Given the description of an element on the screen output the (x, y) to click on. 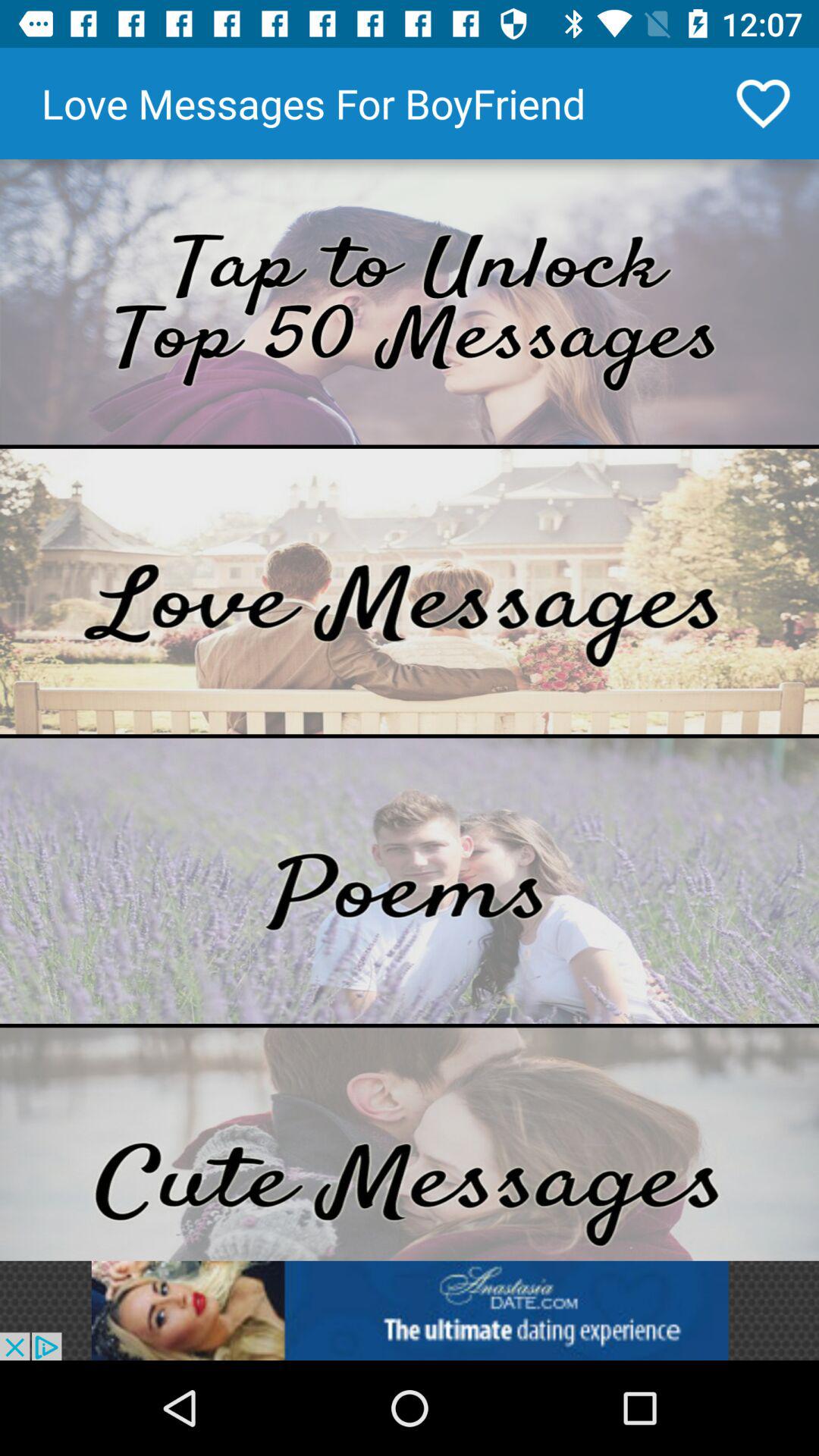
display cute messages (409, 1143)
